Given the description of an element on the screen output the (x, y) to click on. 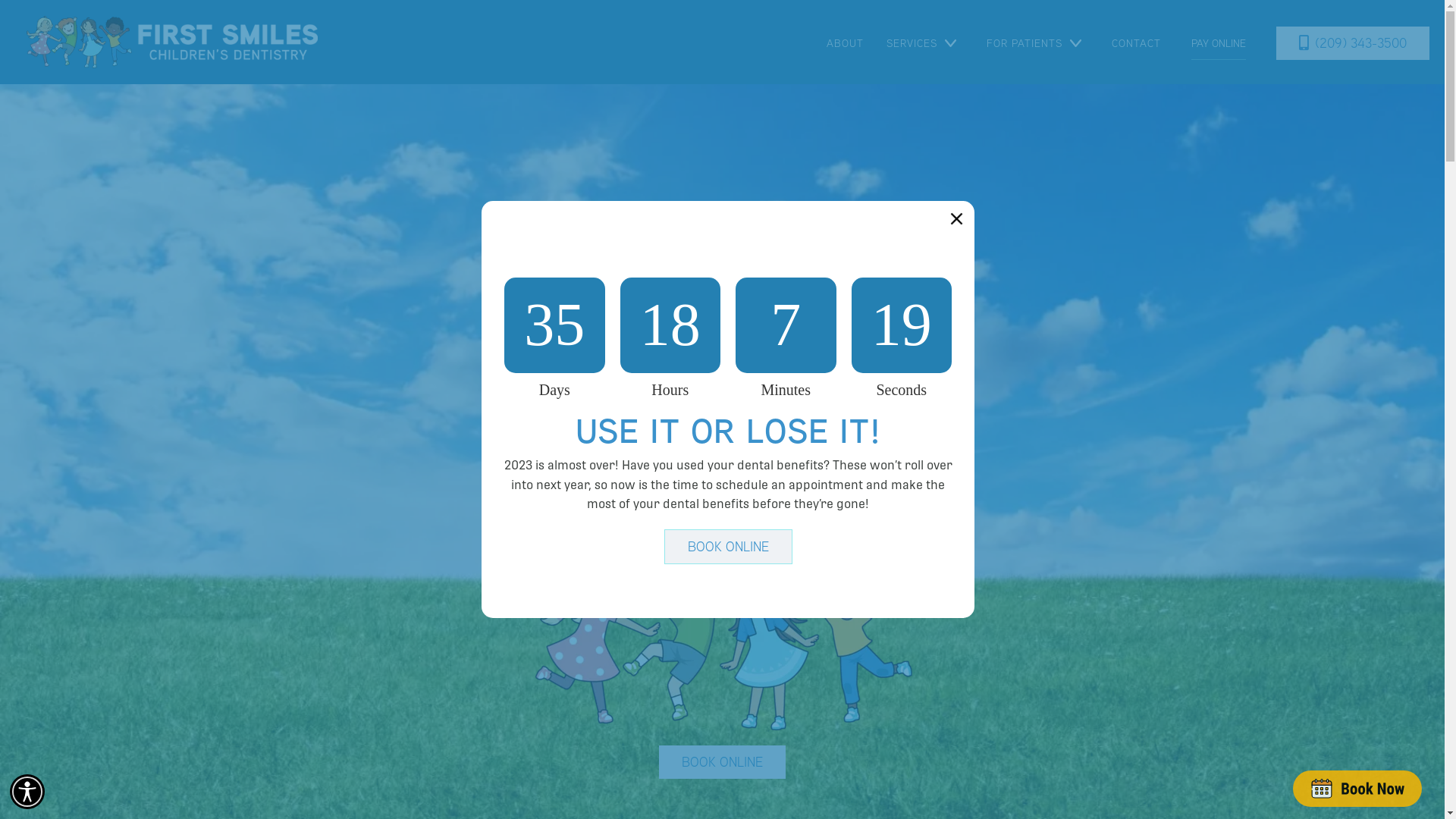
Schedule appointment Element type: hover (1356, 788)
ABOUT Element type: text (844, 42)
BOOK ONLINE Element type: text (721, 761)
CONTACT Element type: text (1136, 42)
PAY ONLINE Element type: text (1218, 42)
BOOK ONLINE Element type: text (728, 546)
